Given the description of an element on the screen output the (x, y) to click on. 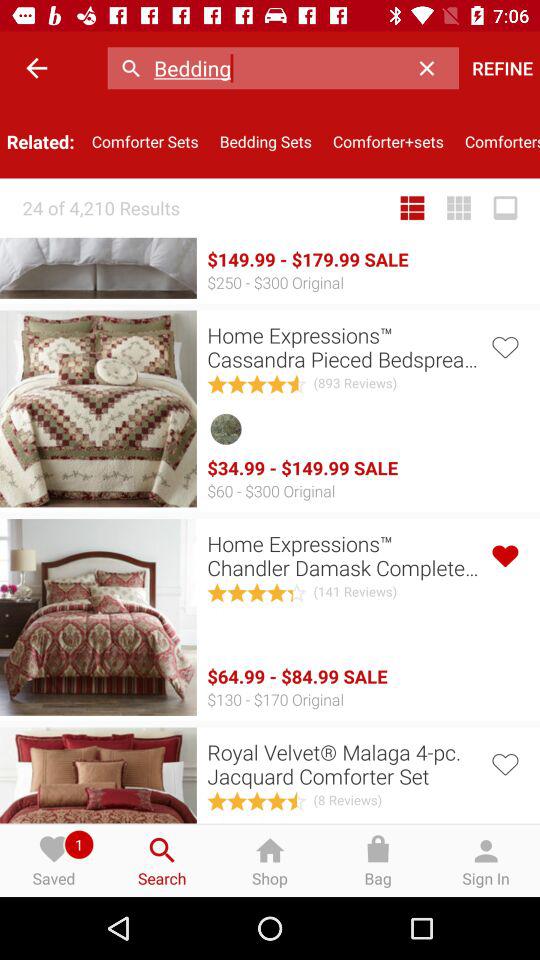
choose comforters (497, 141)
